Given the description of an element on the screen output the (x, y) to click on. 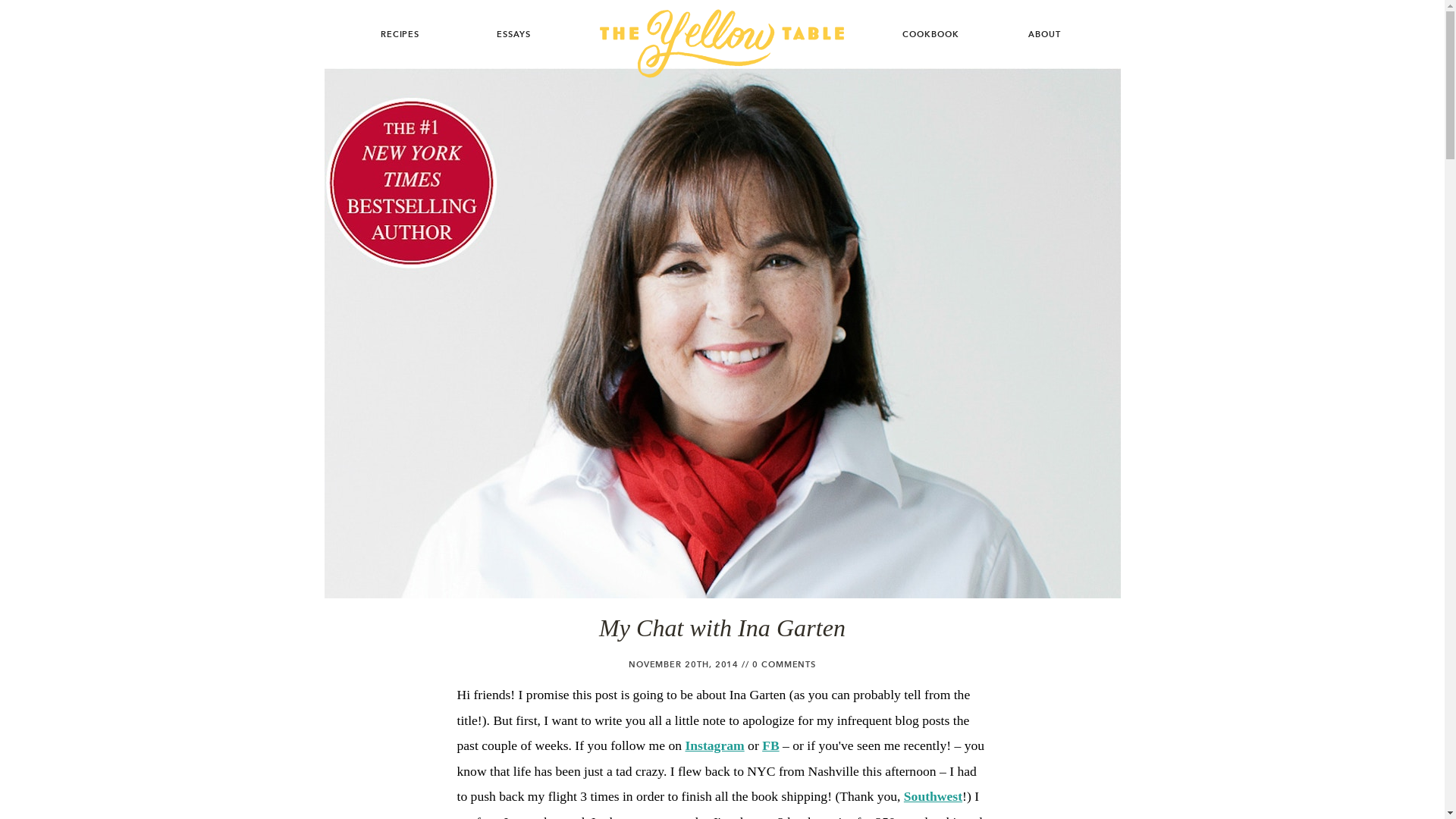
0 COMMENTS (783, 664)
Southwest (933, 795)
RECIPES (399, 31)
ABOUT (1043, 31)
ESSAYS (513, 31)
Instagram (714, 744)
COOKBOOK (930, 31)
FB (769, 744)
